Given the description of an element on the screen output the (x, y) to click on. 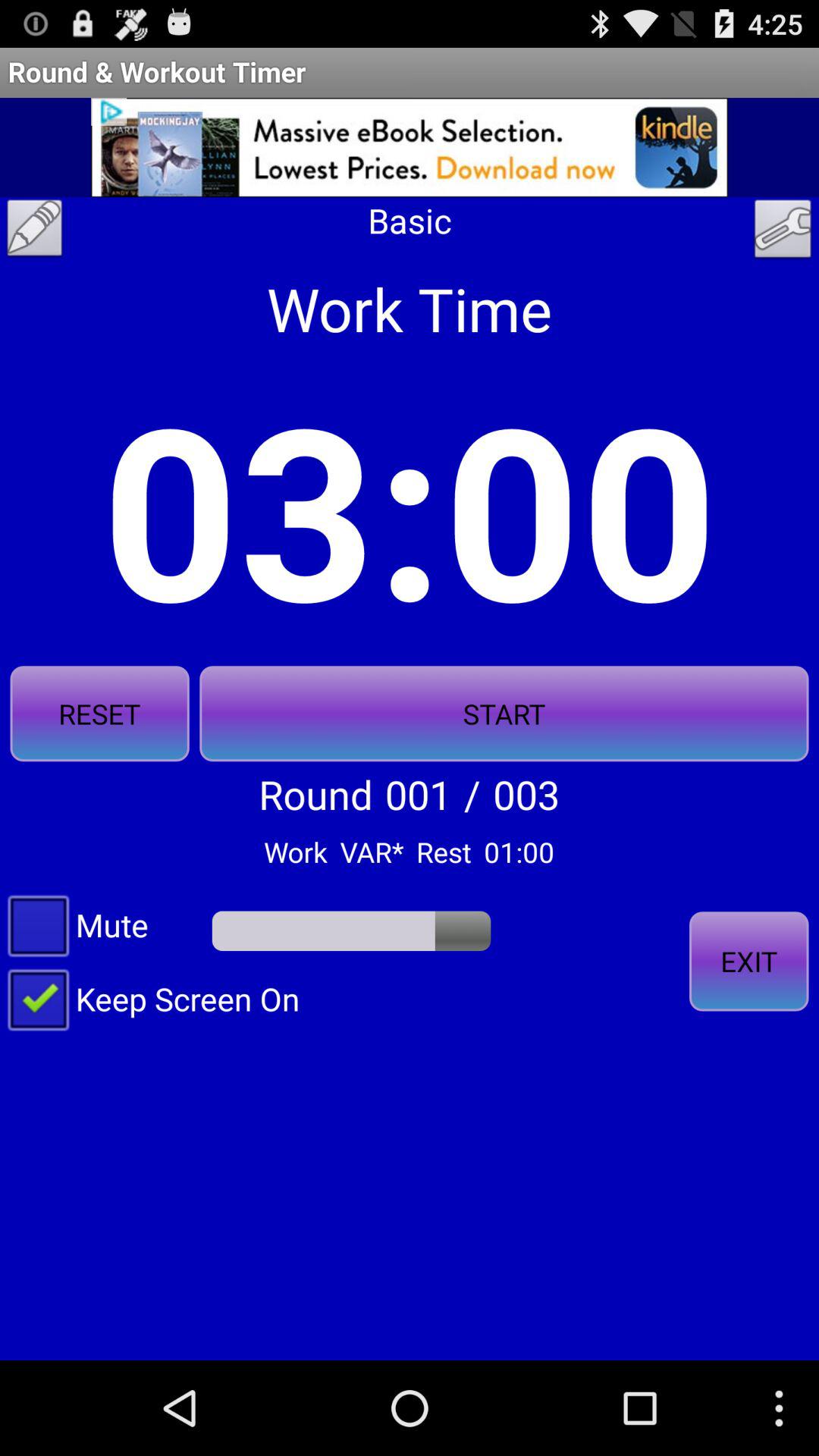
open tools menu (783, 233)
